Given the description of an element on the screen output the (x, y) to click on. 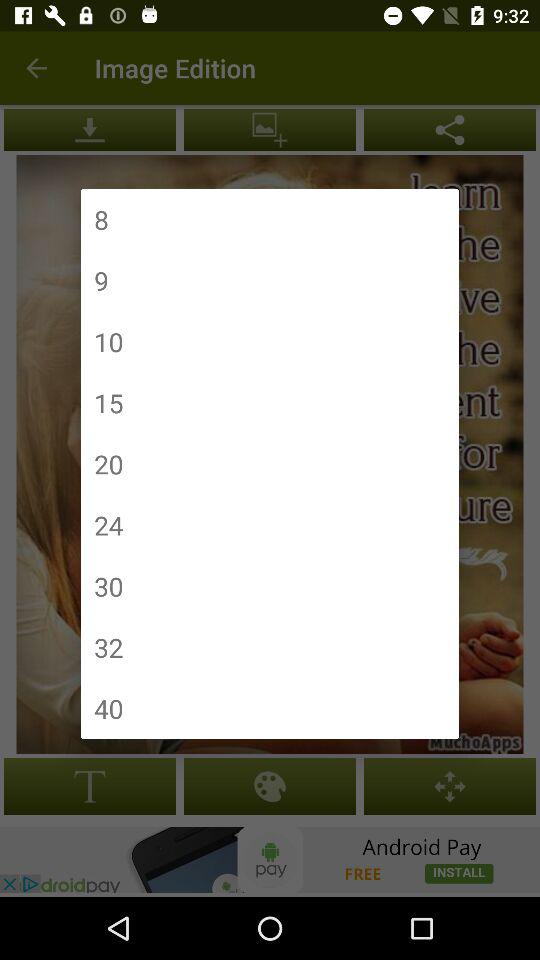
swipe until 10 (108, 341)
